Given the description of an element on the screen output the (x, y) to click on. 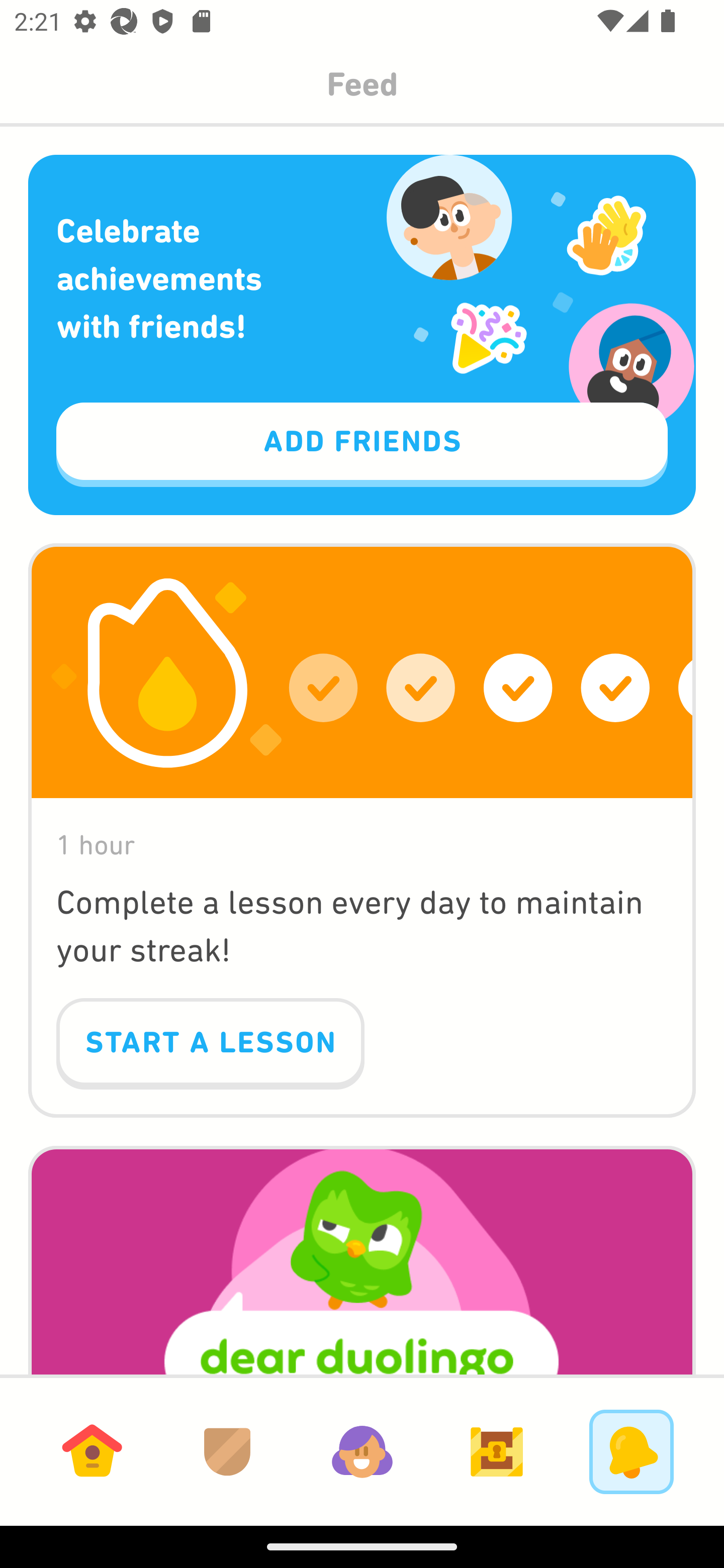
ADD FRIENDS (361, 444)
START A LESSON (210, 1043)
Learn Tab (91, 1451)
Leagues Tab (227, 1451)
Profile Tab (361, 1451)
Goals Tab (496, 1451)
News Tab (631, 1451)
